Given the description of an element on the screen output the (x, y) to click on. 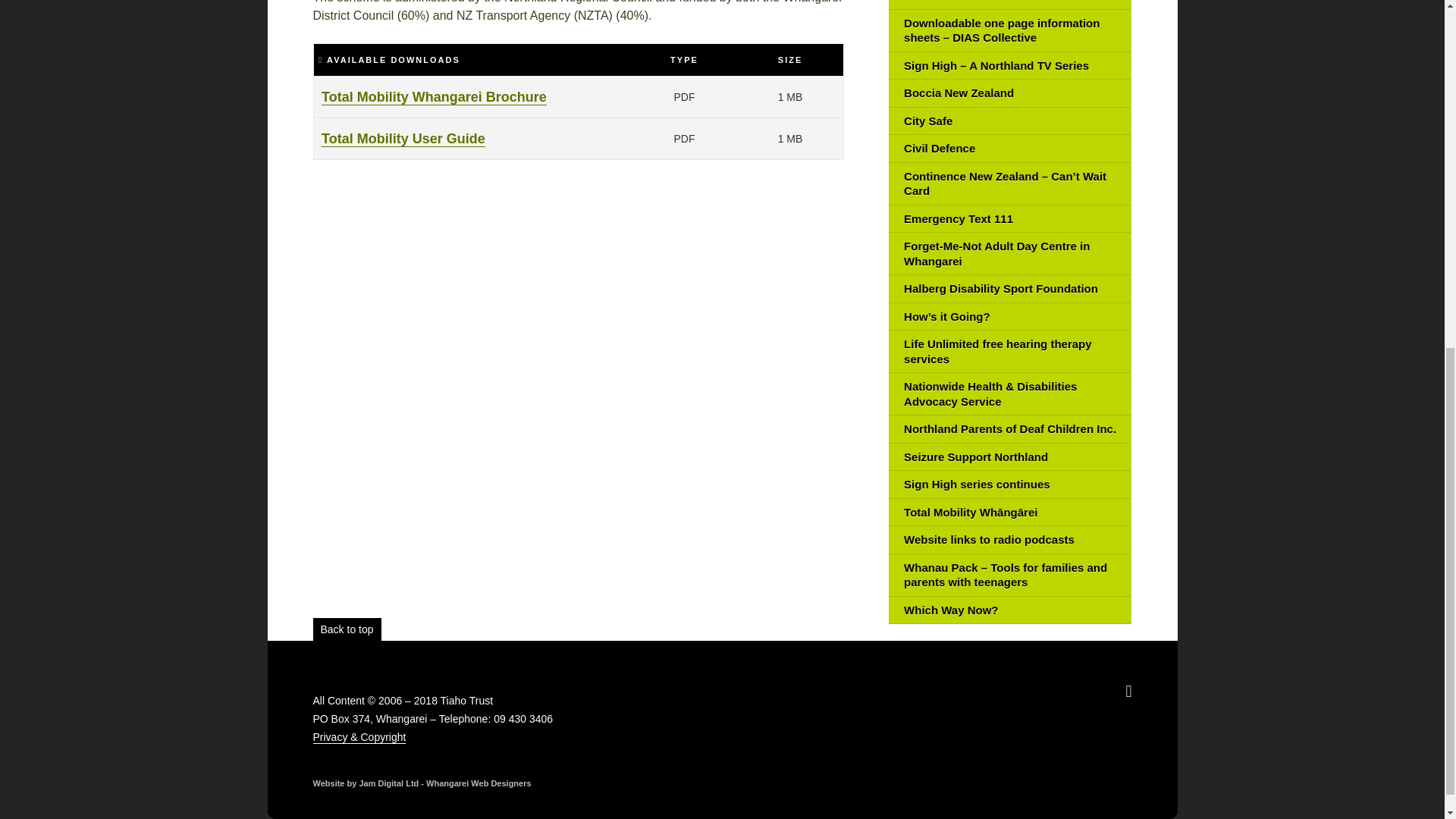
Total Mobility User Guide (402, 139)
Total Mobility Whangarei Brochure (434, 97)
Back to top (346, 629)
Life Unlimited free hearing therapy services (1009, 351)
Halberg Disability Sport Foundation (1009, 289)
Boccia New Zealand (1009, 93)
City Safe (1009, 121)
DIAS Collective Promotional Pad (1009, 4)
Emergency Text 111 (1009, 219)
Forget-Me-Not Adult Day Centre in Whangarei (1009, 253)
